Given the description of an element on the screen output the (x, y) to click on. 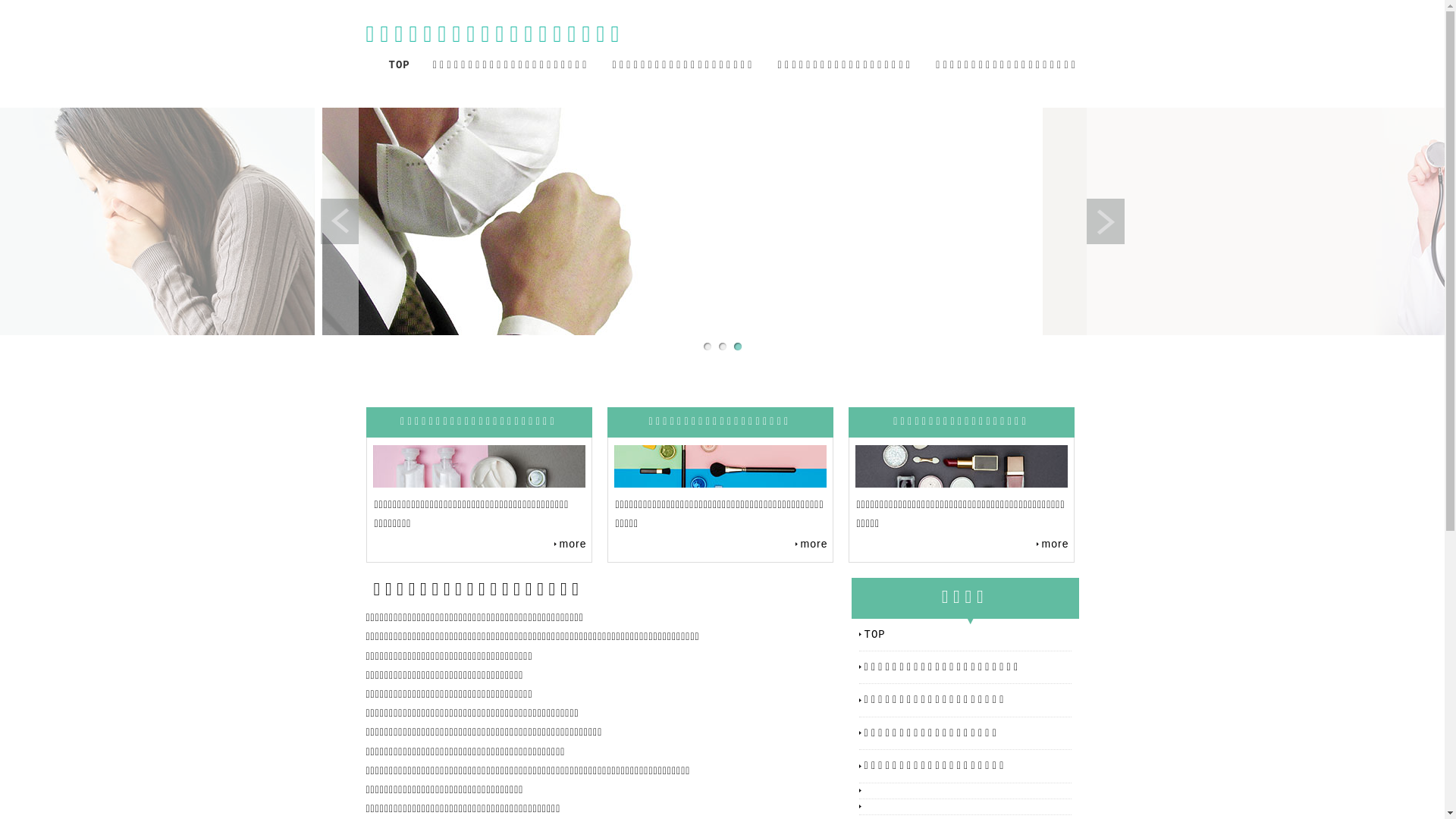
more Element type: text (811, 543)
more Element type: text (1052, 543)
TOP Element type: text (398, 64)
more Element type: text (570, 543)
TOP Element type: text (967, 634)
